Given the description of an element on the screen output the (x, y) to click on. 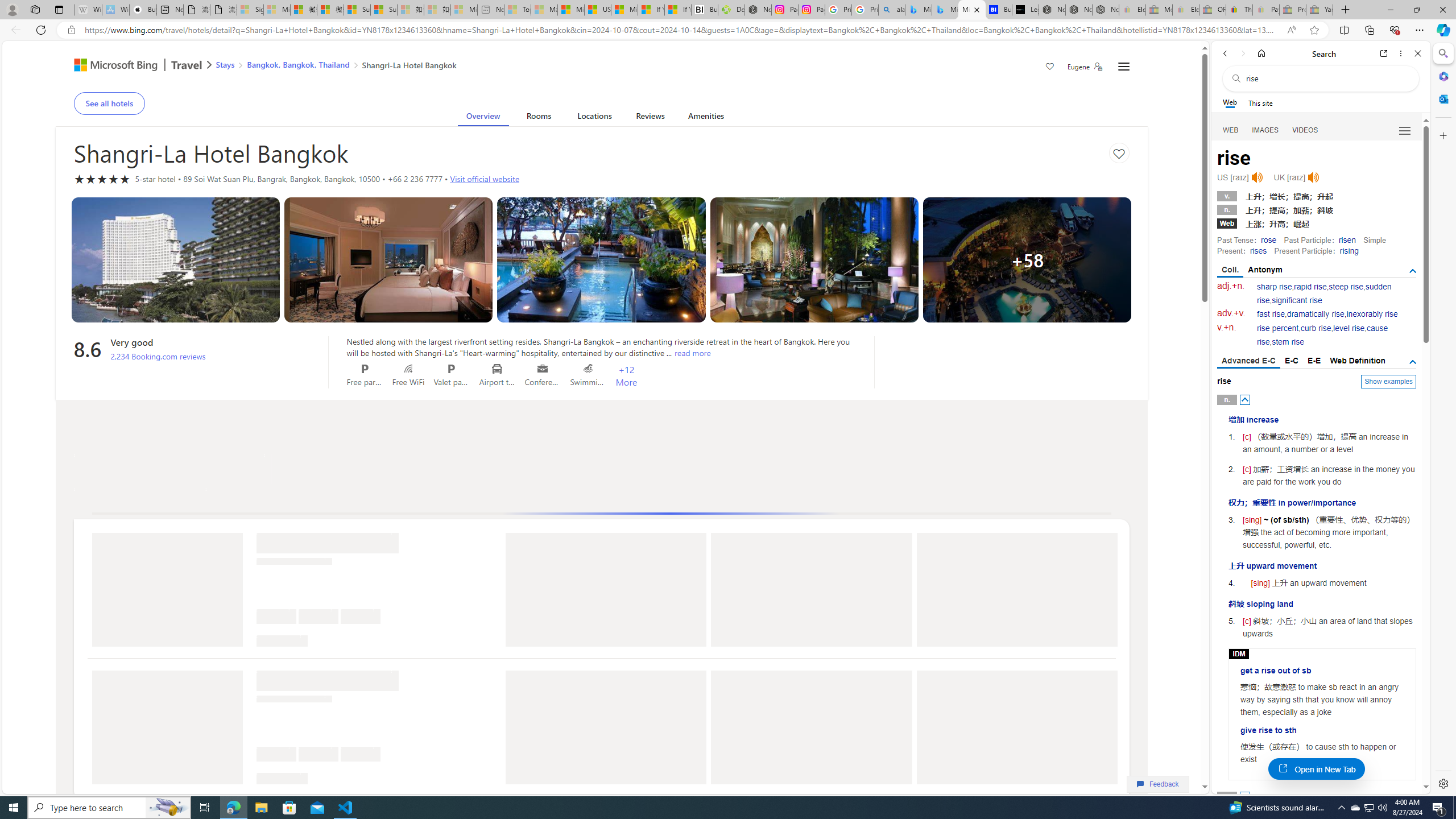
Locations (594, 118)
Swimming pool (588, 368)
AutomationID: posbtn_0 (1245, 399)
cause rise (1322, 335)
rising (1348, 250)
Microsoft Bing Travel (130, 65)
rose (1268, 239)
Class: ms-ShimmerLine-topLeftCorner topLeftCorner-132 (260, 776)
